Given the description of an element on the screen output the (x, y) to click on. 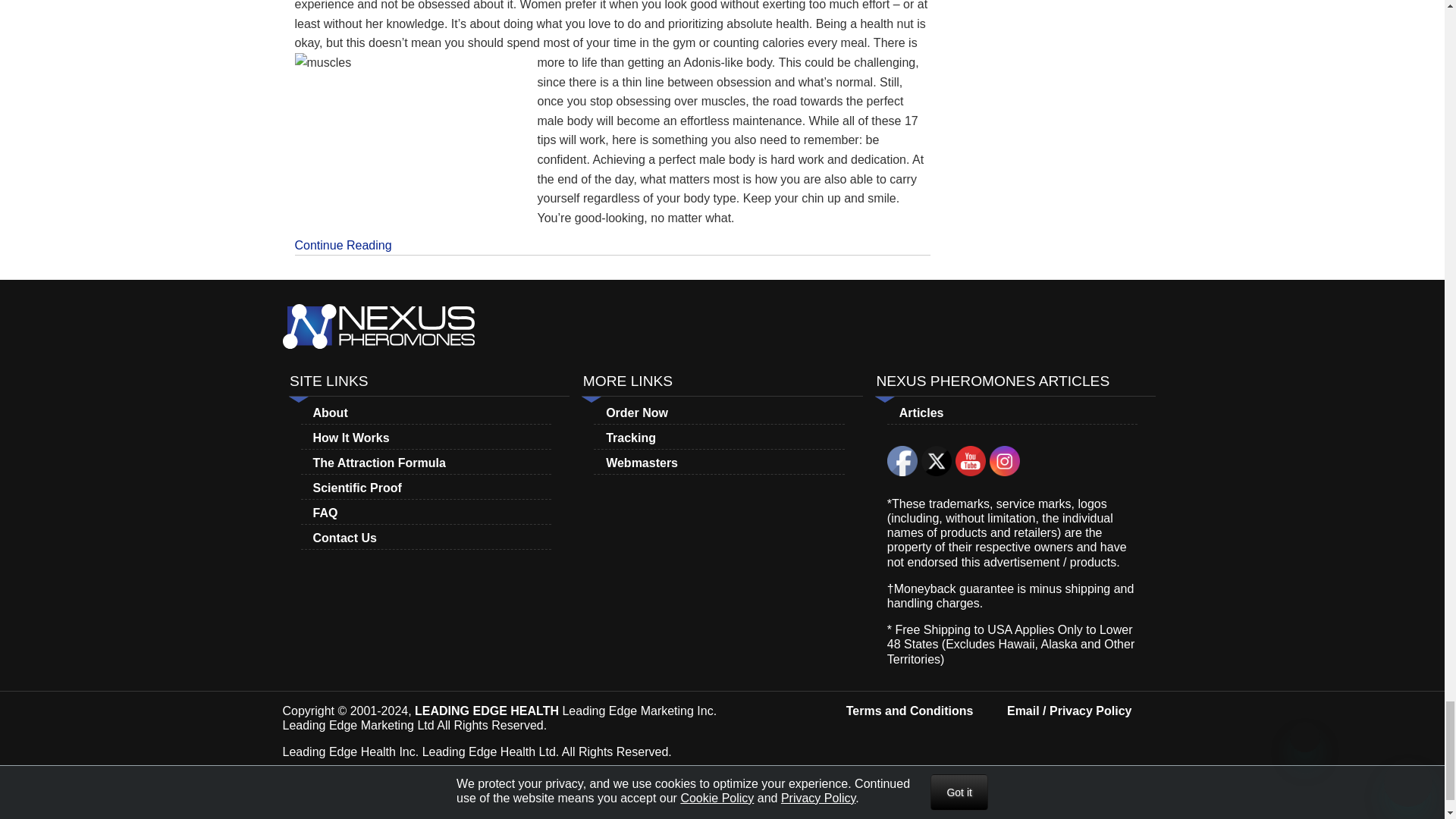
Twitter (936, 460)
Instagram (1005, 460)
YouTube (970, 460)
Facebook (901, 460)
Mastering Your Body to Becoming the Perfect Male Specimen (612, 241)
Continue Reading (612, 241)
